Given the description of an element on the screen output the (x, y) to click on. 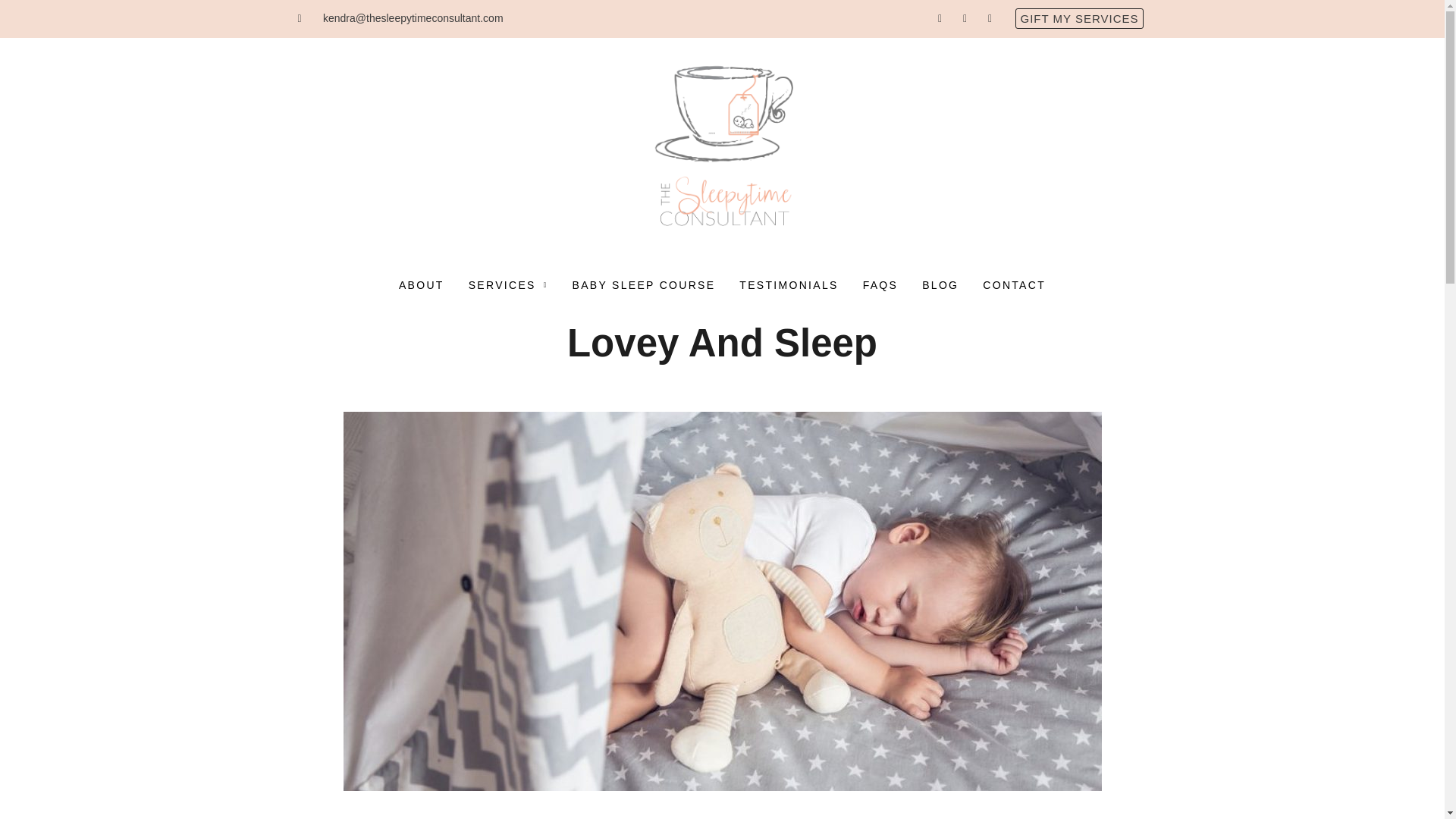
FAQS (880, 284)
Twitter (964, 18)
GIFT MY SERVICES (1078, 18)
SERVICES (508, 284)
CONTACT (1014, 284)
TESTIMONIALS (788, 284)
Instagram (989, 18)
BABY SLEEP COURSE (644, 284)
Facebook-f (939, 18)
ABOUT (422, 284)
BLOG (940, 284)
